Given the description of an element on the screen output the (x, y) to click on. 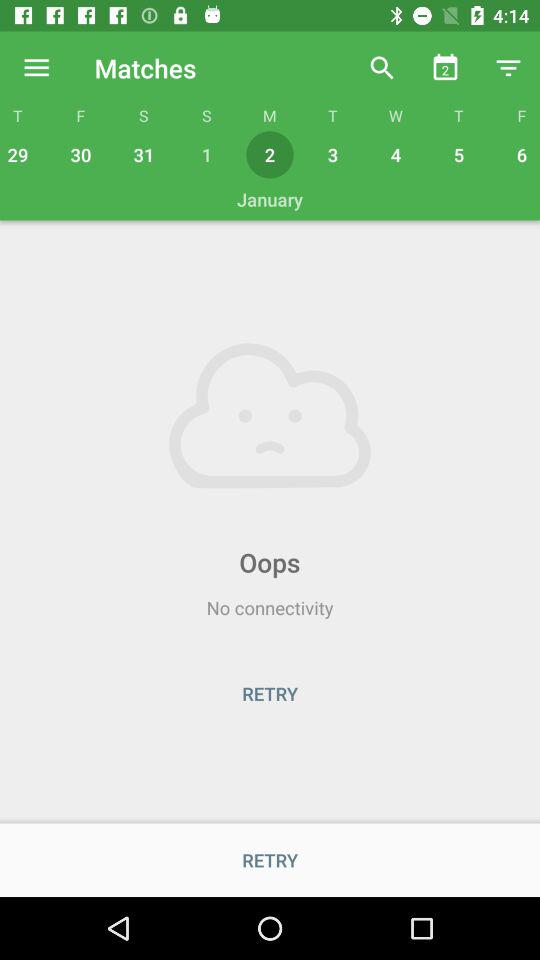
select the number 3 (332, 154)
click the retry button (269, 693)
